Given the description of an element on the screen output the (x, y) to click on. 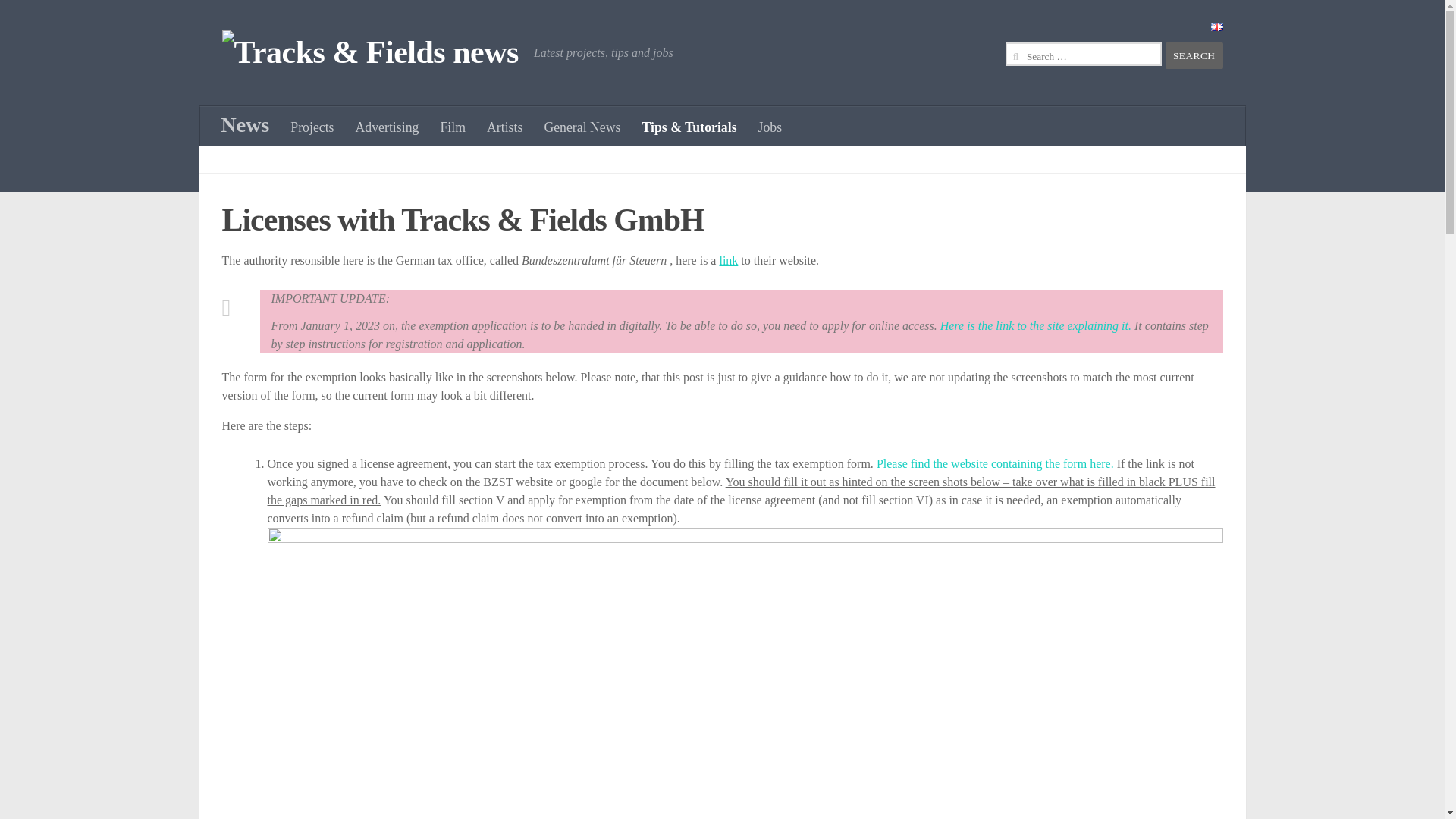
Artists (504, 127)
Search (1194, 55)
link (728, 259)
Film (452, 127)
Here is the link to the site explaining it. (1035, 325)
Search (1194, 55)
Search (1194, 55)
Advertising (387, 127)
Jobs (770, 127)
News (246, 125)
Skip to content (59, 20)
Please find the website containing the form here. (994, 463)
Projects (311, 127)
General News (581, 127)
